Given the description of an element on the screen output the (x, y) to click on. 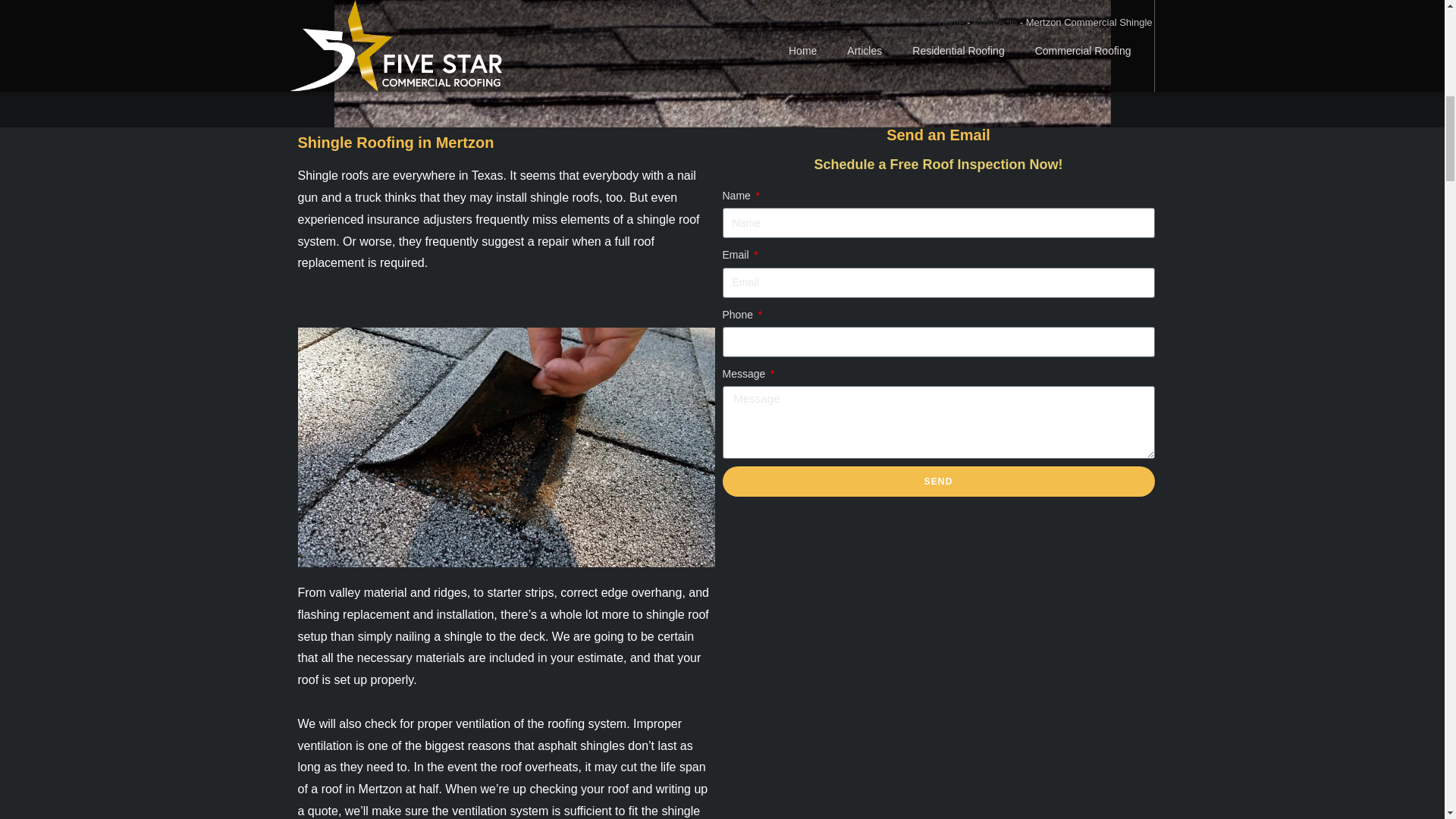
Mertzon Commercial Shingle Roofs 2 (505, 447)
Mertzon Commercial Shingle Roofs 1 (721, 63)
